Given the description of an element on the screen output the (x, y) to click on. 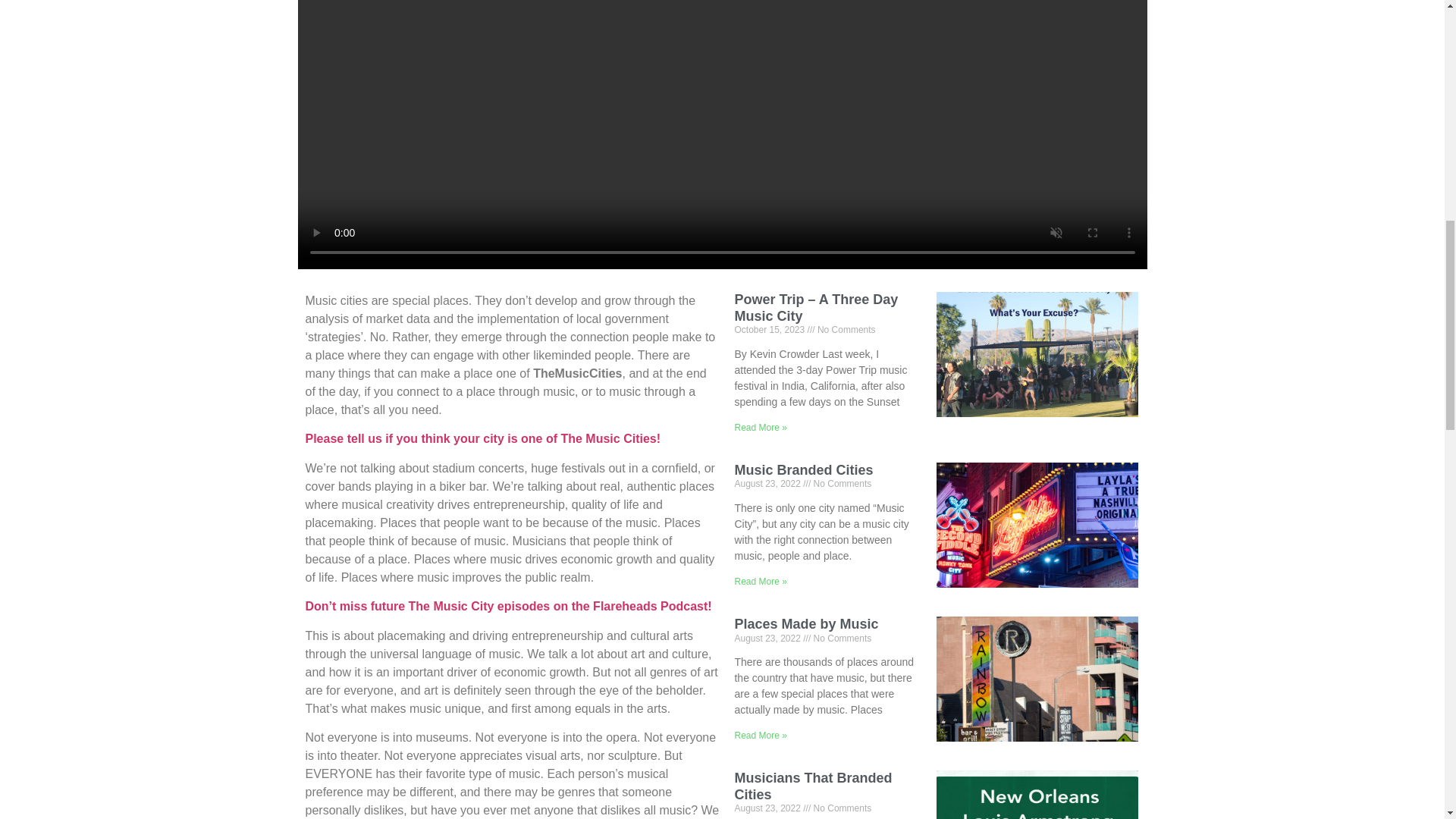
Musicians That Branded Cities (812, 786)
Music Branded Cities (802, 469)
Places Made by Music (805, 623)
